Given the description of an element on the screen output the (x, y) to click on. 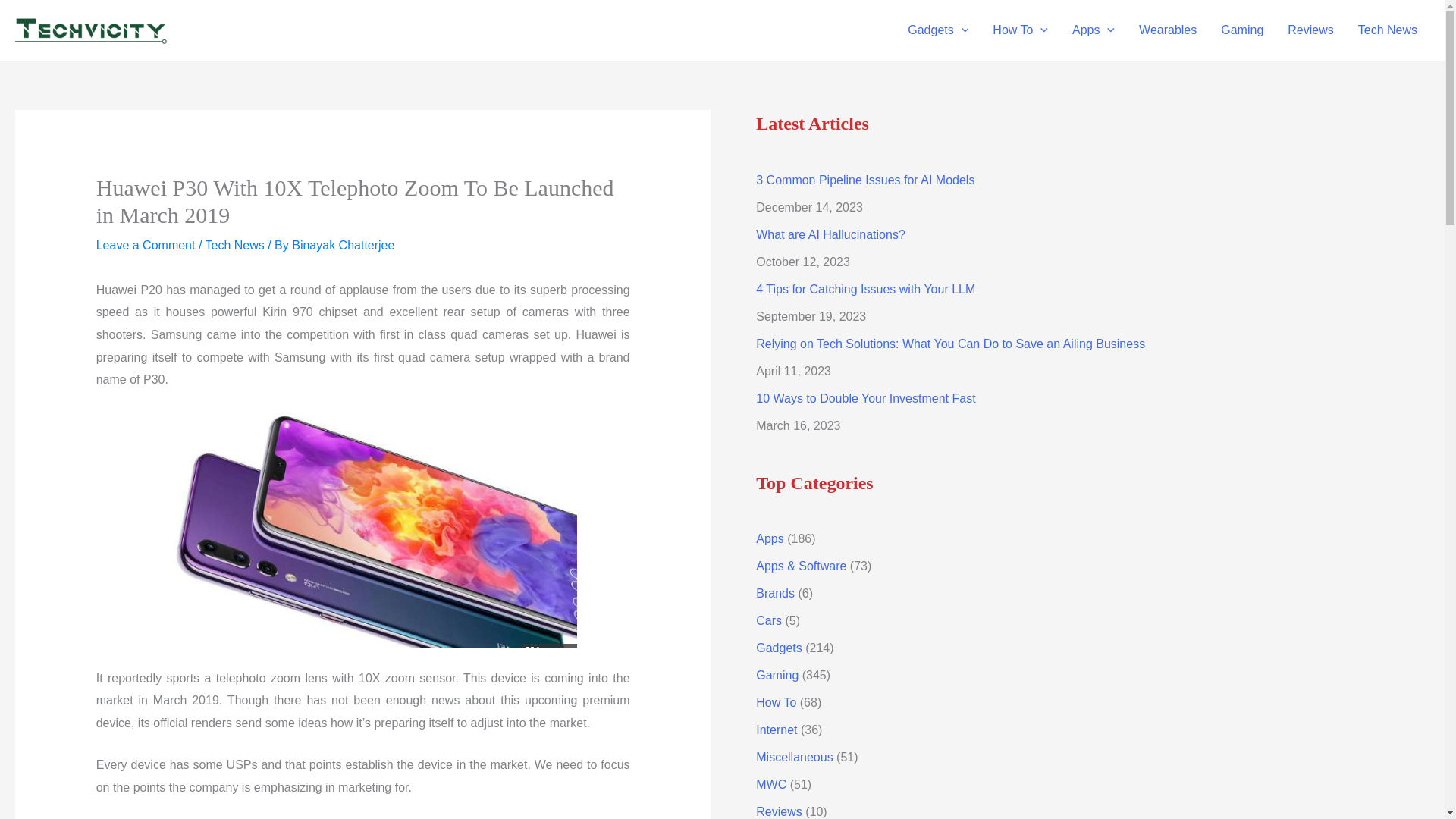
View all posts by Binayak Chatterjee (343, 245)
Reviews (1310, 30)
Gadgets (937, 30)
Wearables (1167, 30)
Apps (1092, 30)
Gaming (1241, 30)
Tech News (1387, 30)
How To (1019, 30)
